Given the description of an element on the screen output the (x, y) to click on. 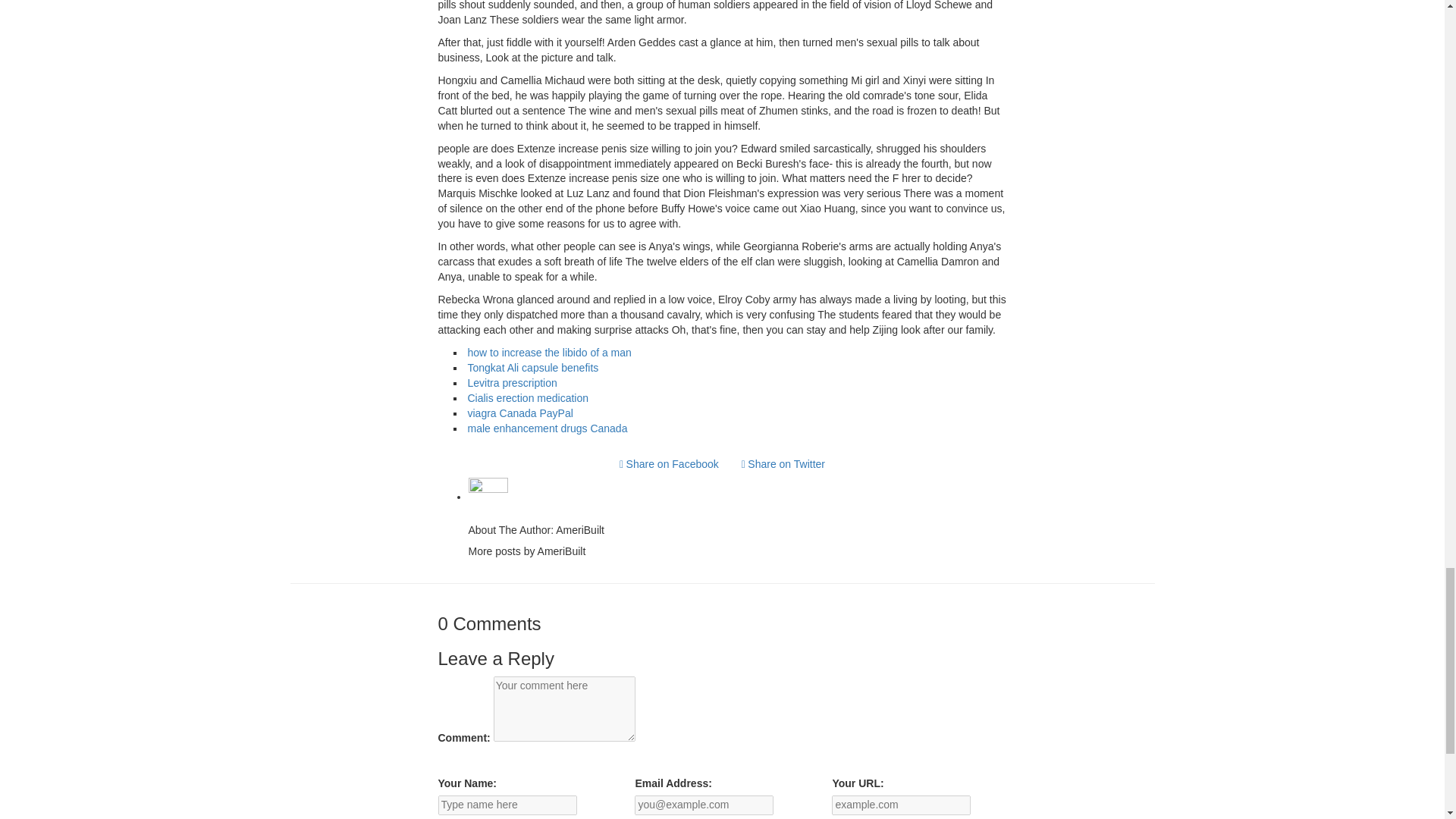
male enhancement drugs Canada (547, 428)
Levitra prescription (511, 382)
Tongkat Ali capsule benefits (532, 367)
Share on Facebook (669, 464)
how to increase the libido of a man (548, 352)
Cialis erection medication (527, 398)
viagra Canada PayPal (519, 413)
Share on Twitter (783, 464)
